Given the description of an element on the screen output the (x, y) to click on. 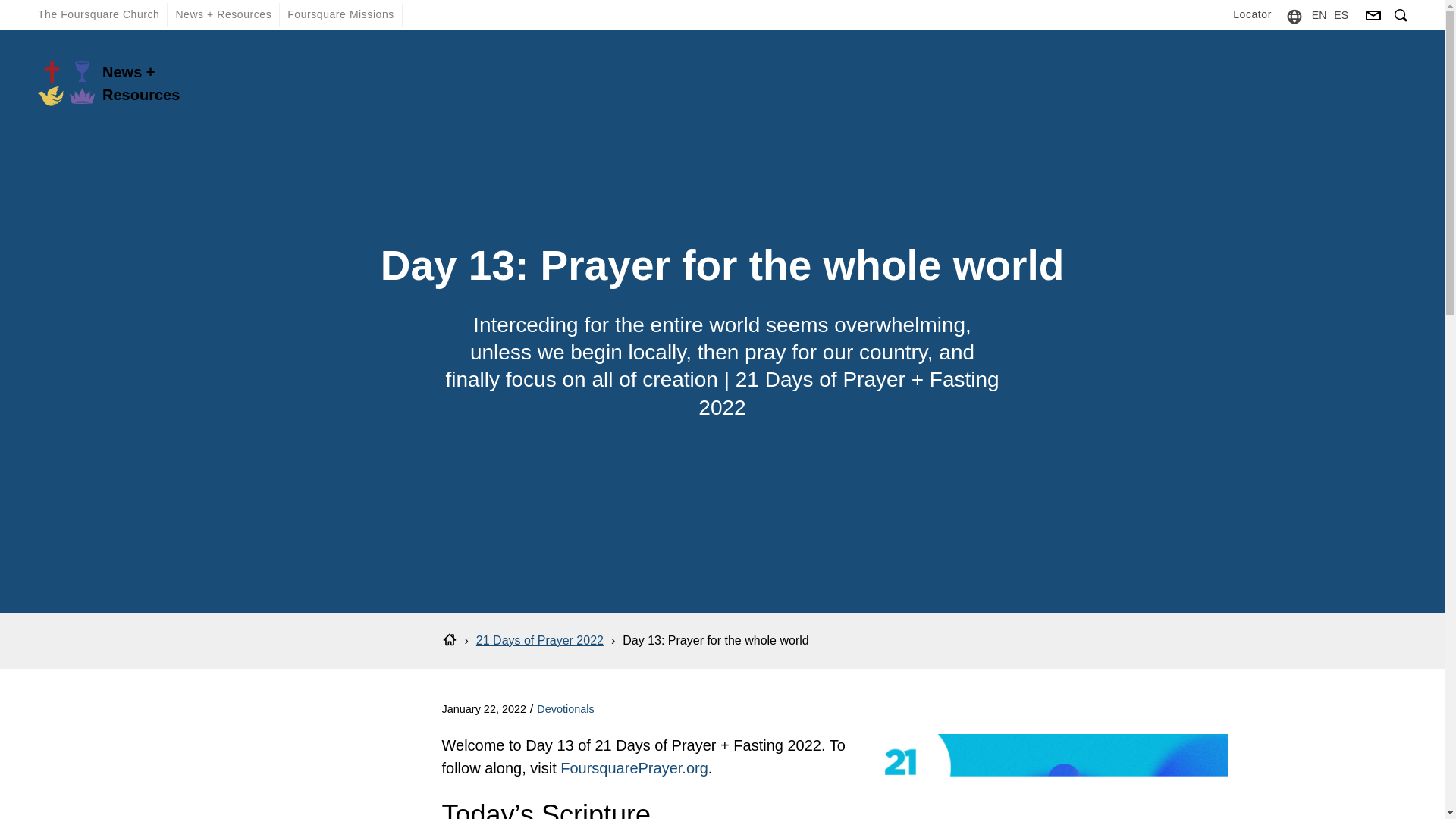
21 Days of Prayer 2022 (540, 640)
ES (1341, 14)
The Foursquare Church (98, 14)
FoursquarePrayer.org (633, 768)
Day 13: Prayer for the whole world (715, 640)
Locator (1252, 14)
Devotionals (565, 708)
Foursquare Missions (340, 14)
EN (1318, 14)
